Given the description of an element on the screen output the (x, y) to click on. 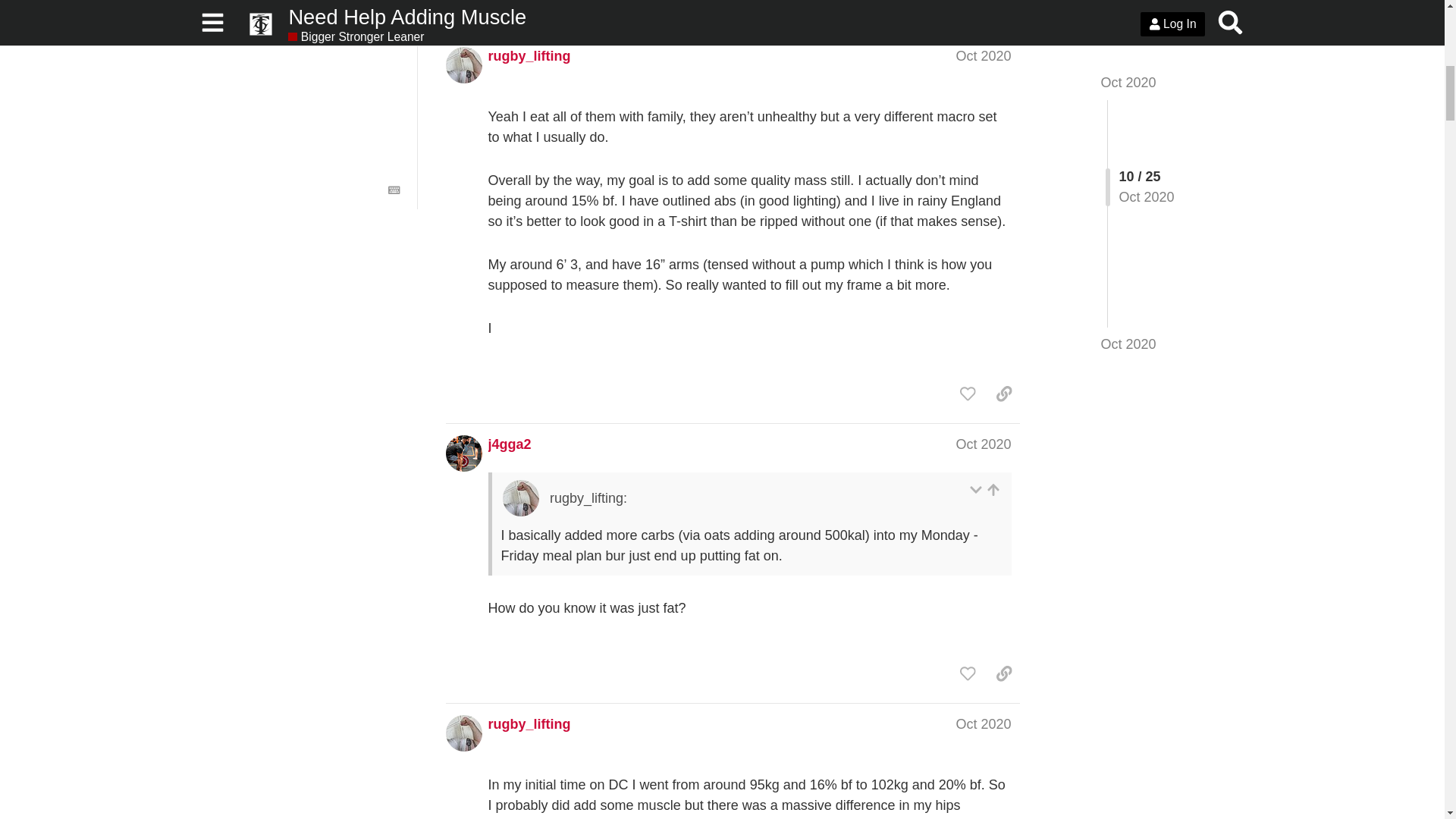
Keyboard Shortcuts (394, 190)
